Given the description of an element on the screen output the (x, y) to click on. 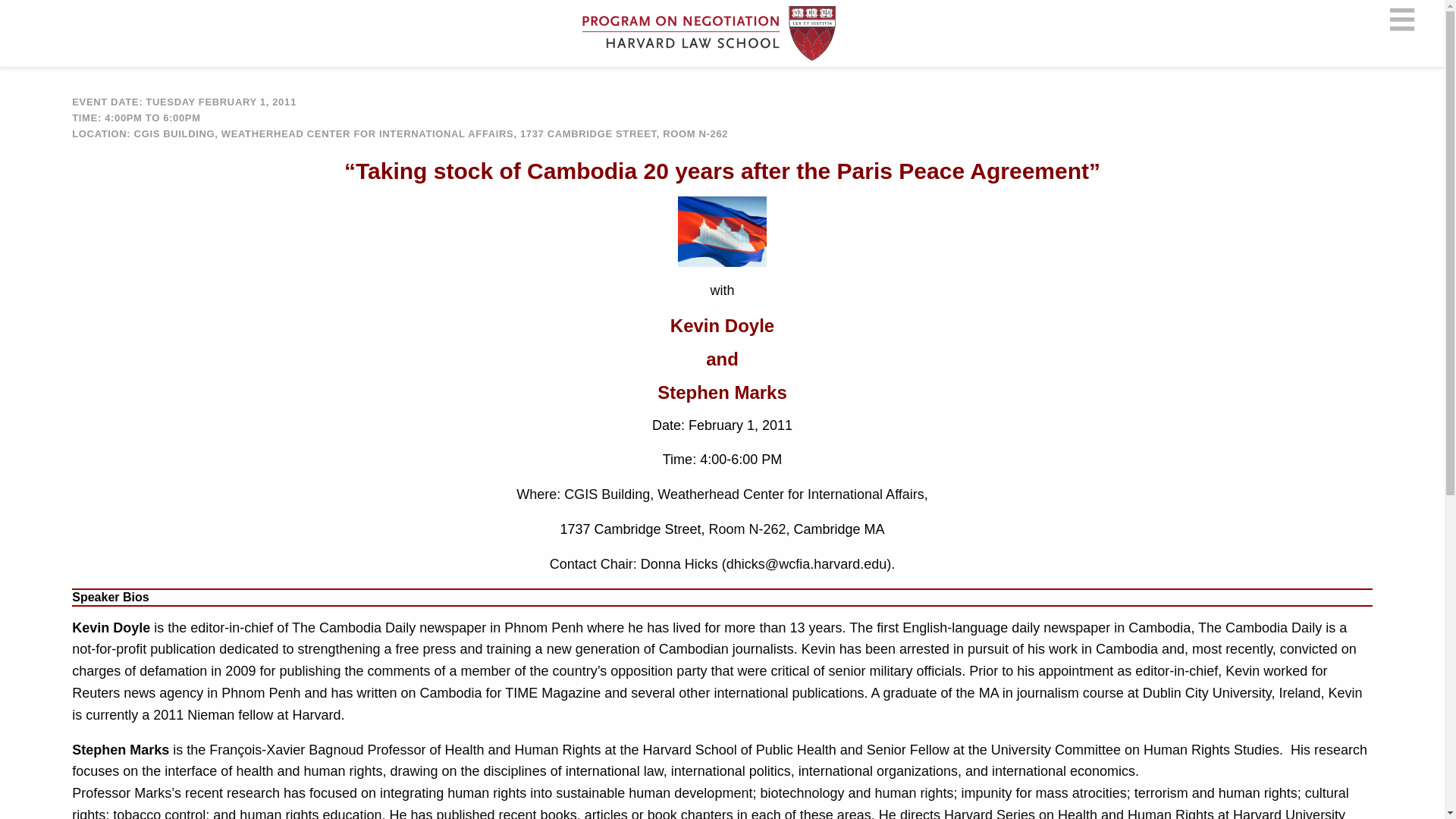
Cambodian Flag (722, 231)
